Given the description of an element on the screen output the (x, y) to click on. 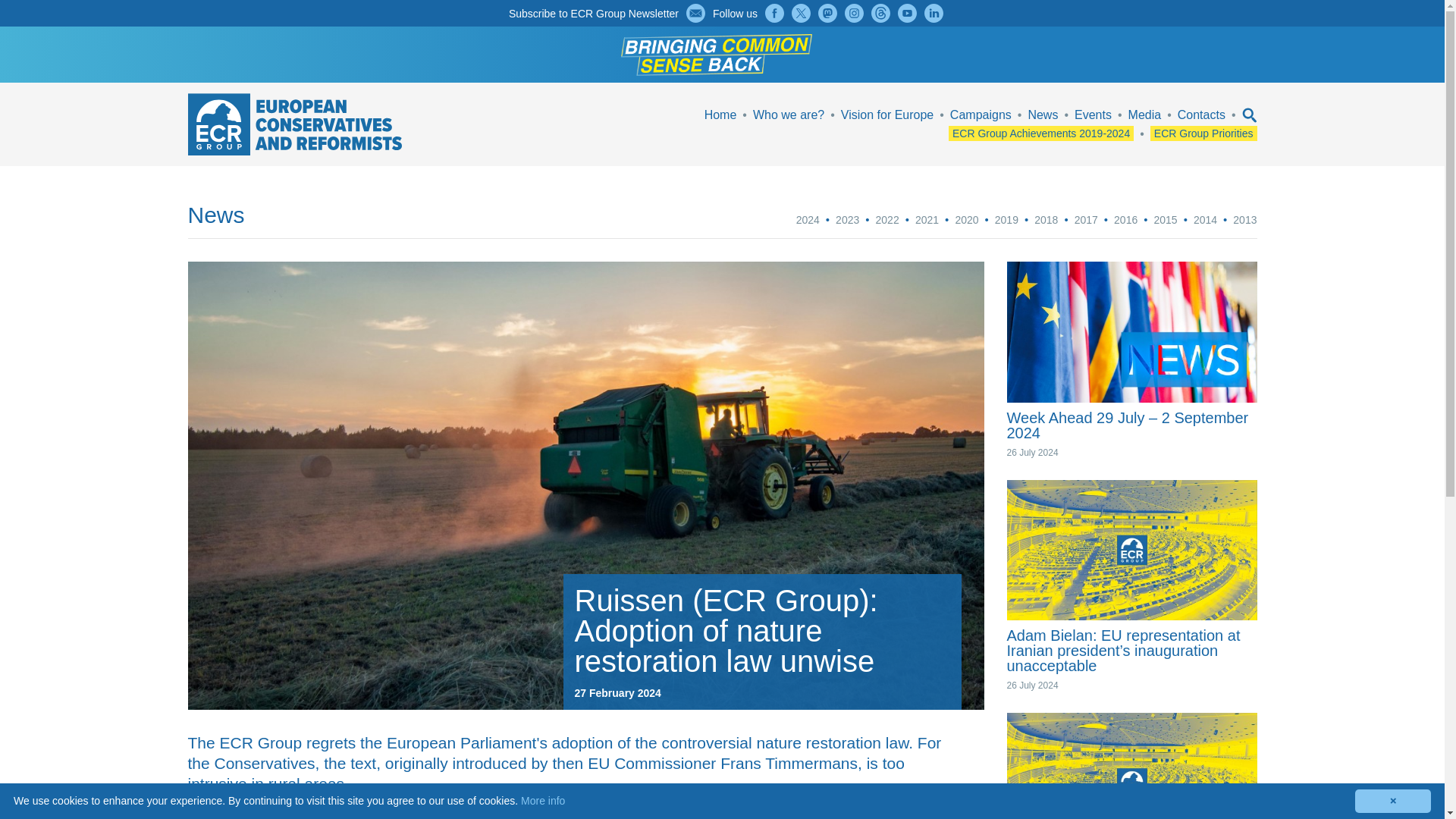
ECR Group Achievements 2019-2024 (1041, 133)
Campaigns (980, 114)
Media (1144, 114)
Home (720, 114)
Vision for Europe (887, 114)
Who we are? (788, 114)
Subscribe to ECR Group Newsletter (593, 13)
Contacts (1201, 114)
News (1042, 114)
Events (1093, 114)
ECR Group Priorities (1203, 133)
